Given the description of an element on the screen output the (x, y) to click on. 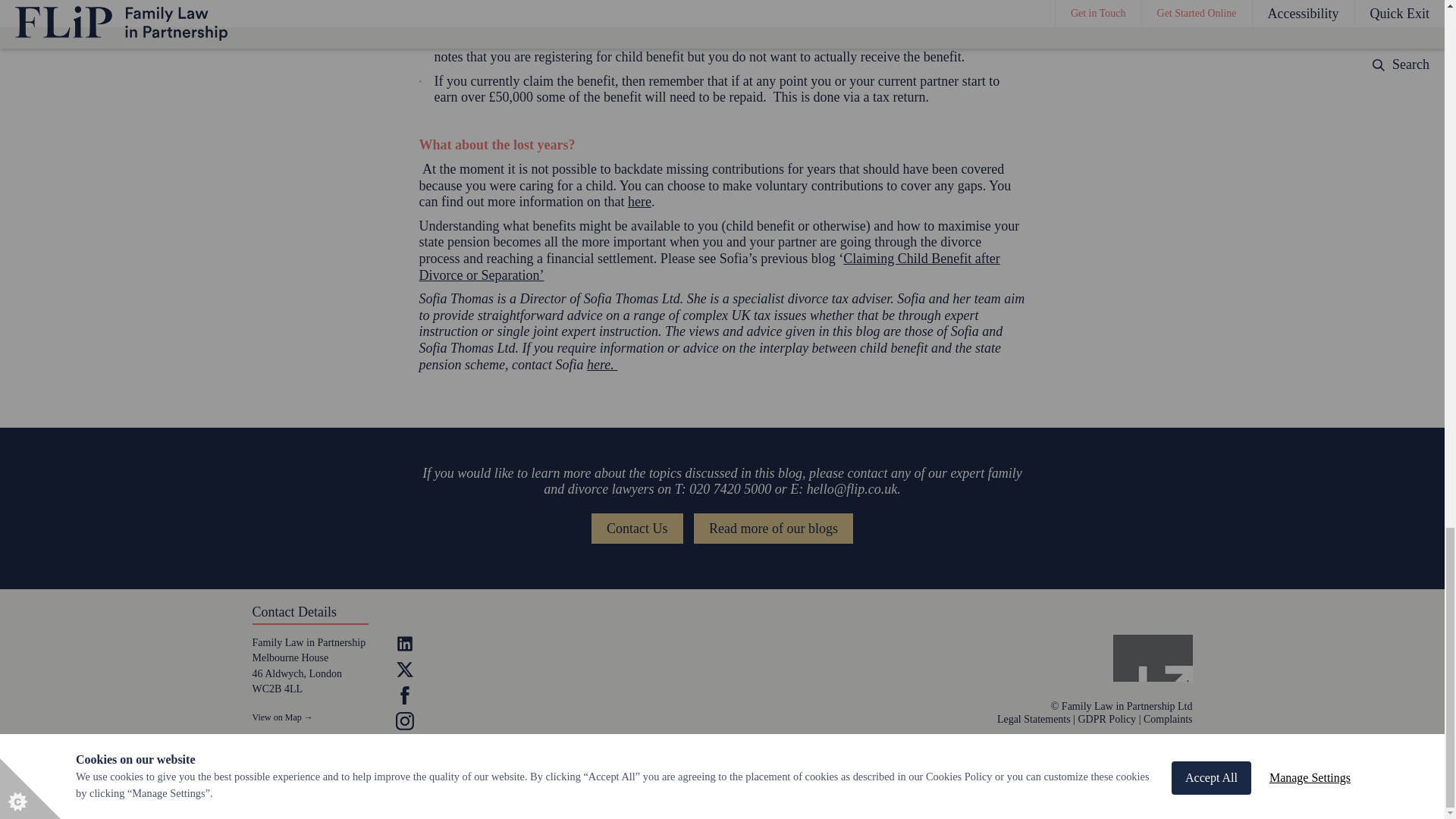
here (638, 201)
here (909, 23)
GDPR Policy (1107, 718)
Complaints (1167, 718)
Read more of our blogs (773, 528)
Legal Statements (1033, 718)
Contact Us (636, 528)
here.  (601, 364)
